Given the description of an element on the screen output the (x, y) to click on. 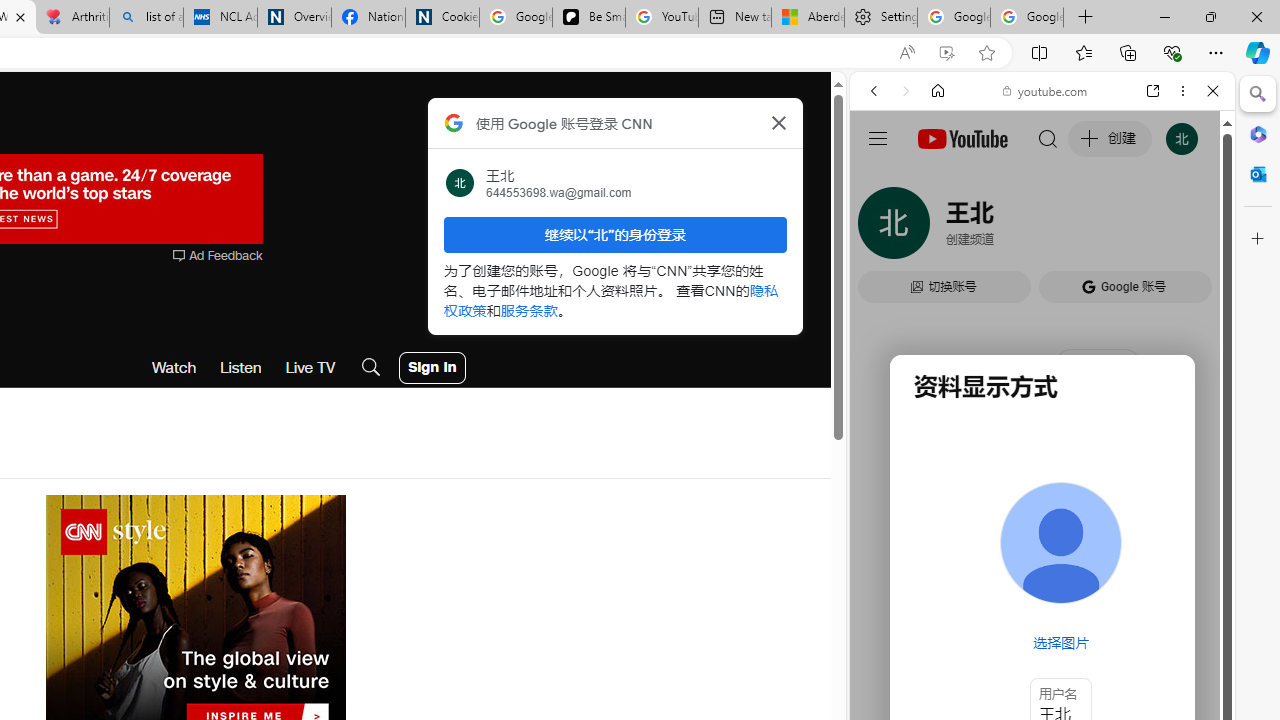
NCL Adult Asthma Inhaler Choice Guideline (220, 17)
Enhance video (946, 53)
This site scope (936, 180)
Search Filter, IMAGES (939, 228)
Listen (241, 367)
Search videos from youtube.com (1005, 657)
#you (1042, 445)
Cookies (441, 17)
Preferences (1189, 228)
